Given the description of an element on the screen output the (x, y) to click on. 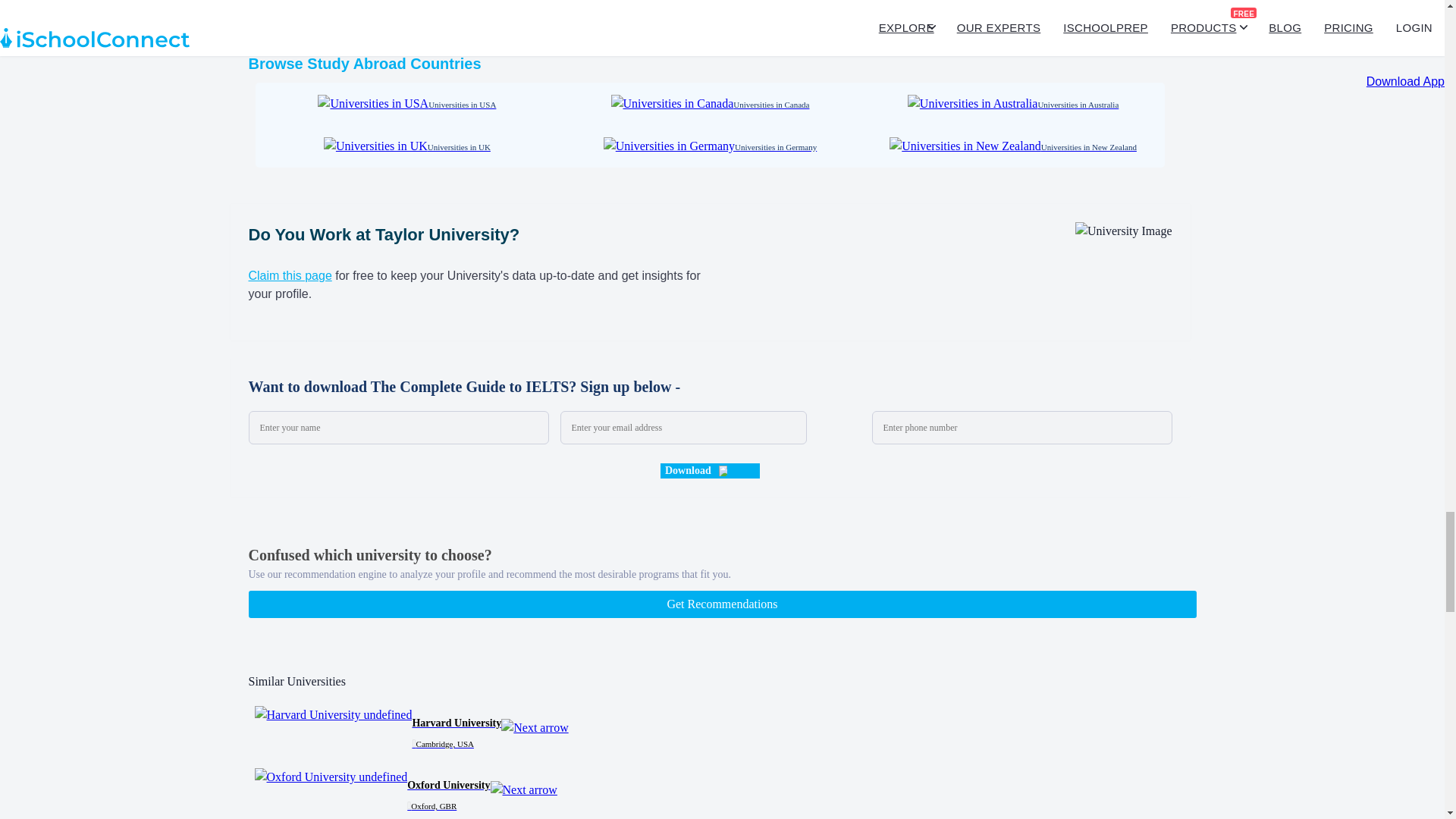
Harvard University (333, 714)
Oxford University (330, 777)
